Given the description of an element on the screen output the (x, y) to click on. 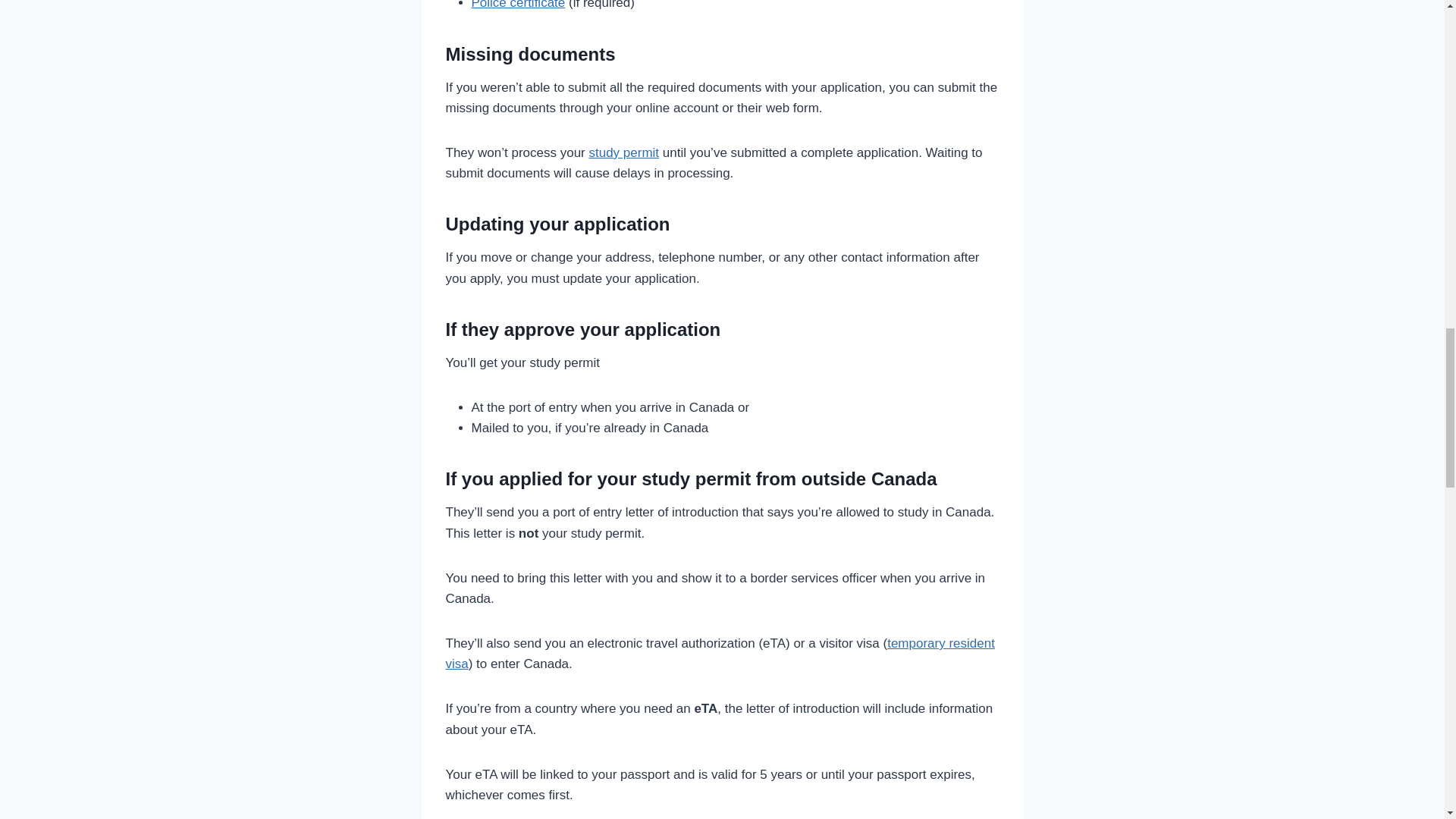
study permit (623, 152)
temporary resident visa (719, 653)
Police certificate (518, 4)
